Given the description of an element on the screen output the (x, y) to click on. 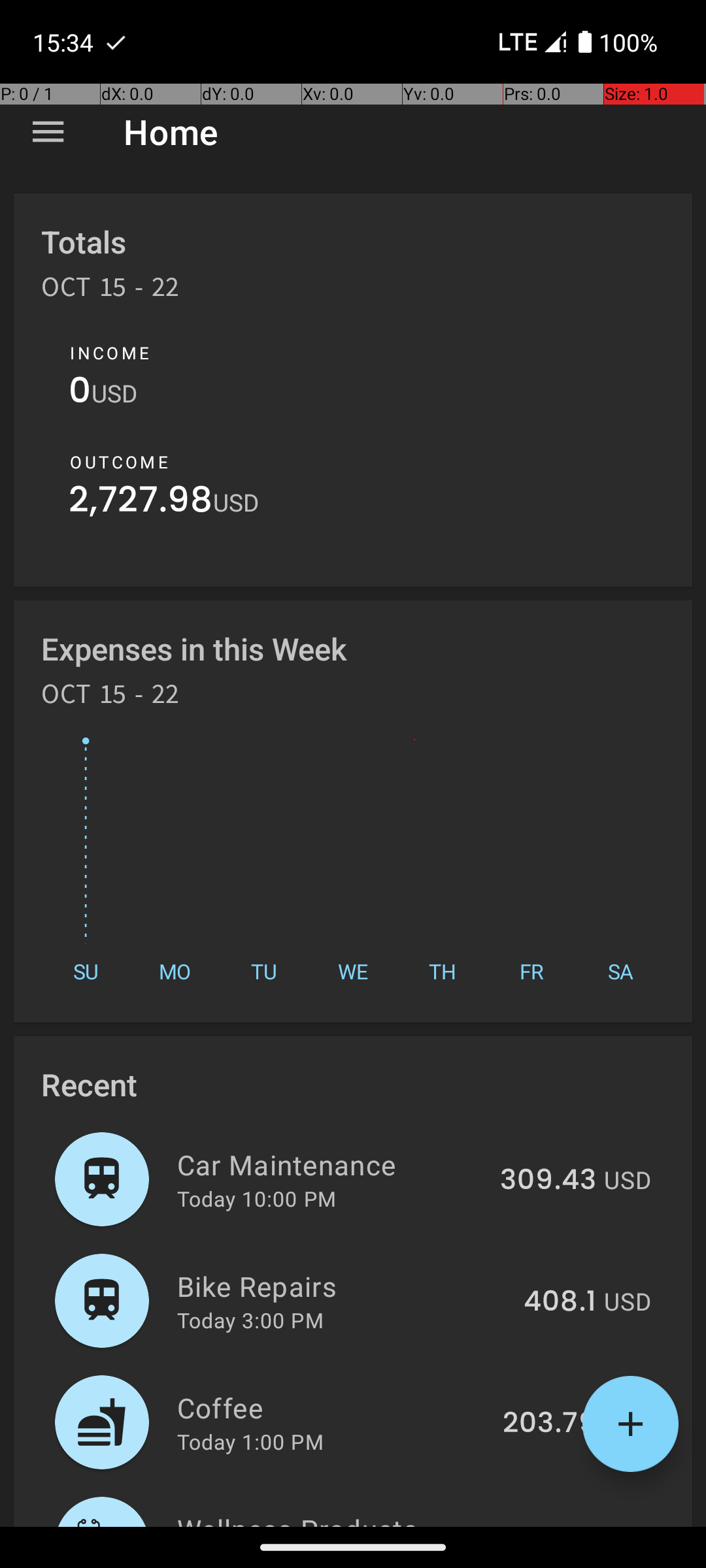
2,727.98 Element type: android.widget.TextView (140, 502)
Car Maintenance Element type: android.widget.TextView (330, 1164)
Today 10:00 PM Element type: android.widget.TextView (256, 1198)
309.43 Element type: android.widget.TextView (547, 1180)
Bike Repairs Element type: android.widget.TextView (342, 1285)
Today 3:00 PM Element type: android.widget.TextView (250, 1320)
408.1 Element type: android.widget.TextView (559, 1301)
Coffee Element type: android.widget.TextView (332, 1407)
Today 1:00 PM Element type: android.widget.TextView (250, 1441)
203.79 Element type: android.widget.TextView (549, 1423)
Wellness Products Element type: android.widget.TextView (339, 1518)
352.11 Element type: android.widget.TextView (555, 1524)
